Given the description of an element on the screen output the (x, y) to click on. 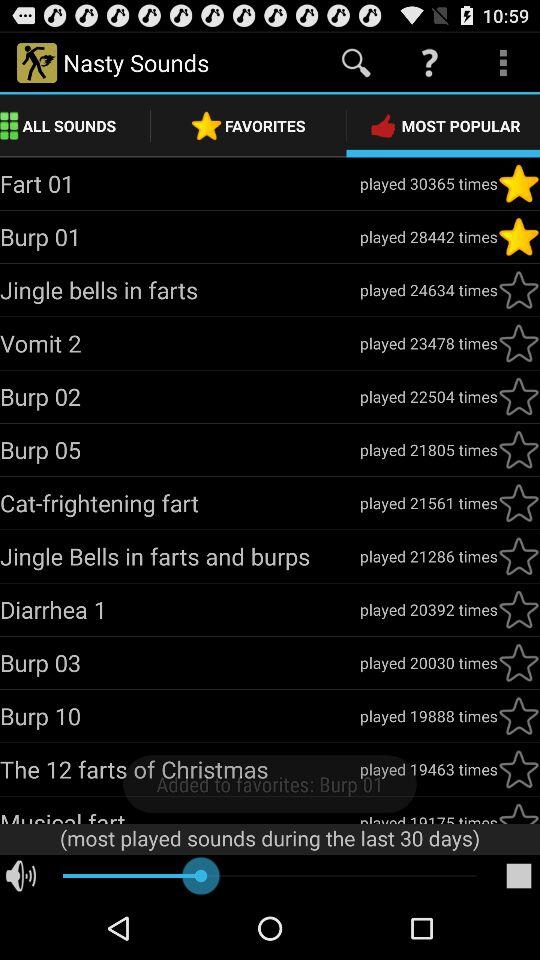
select app next to the played 19175 times icon (180, 814)
